Given the description of an element on the screen output the (x, y) to click on. 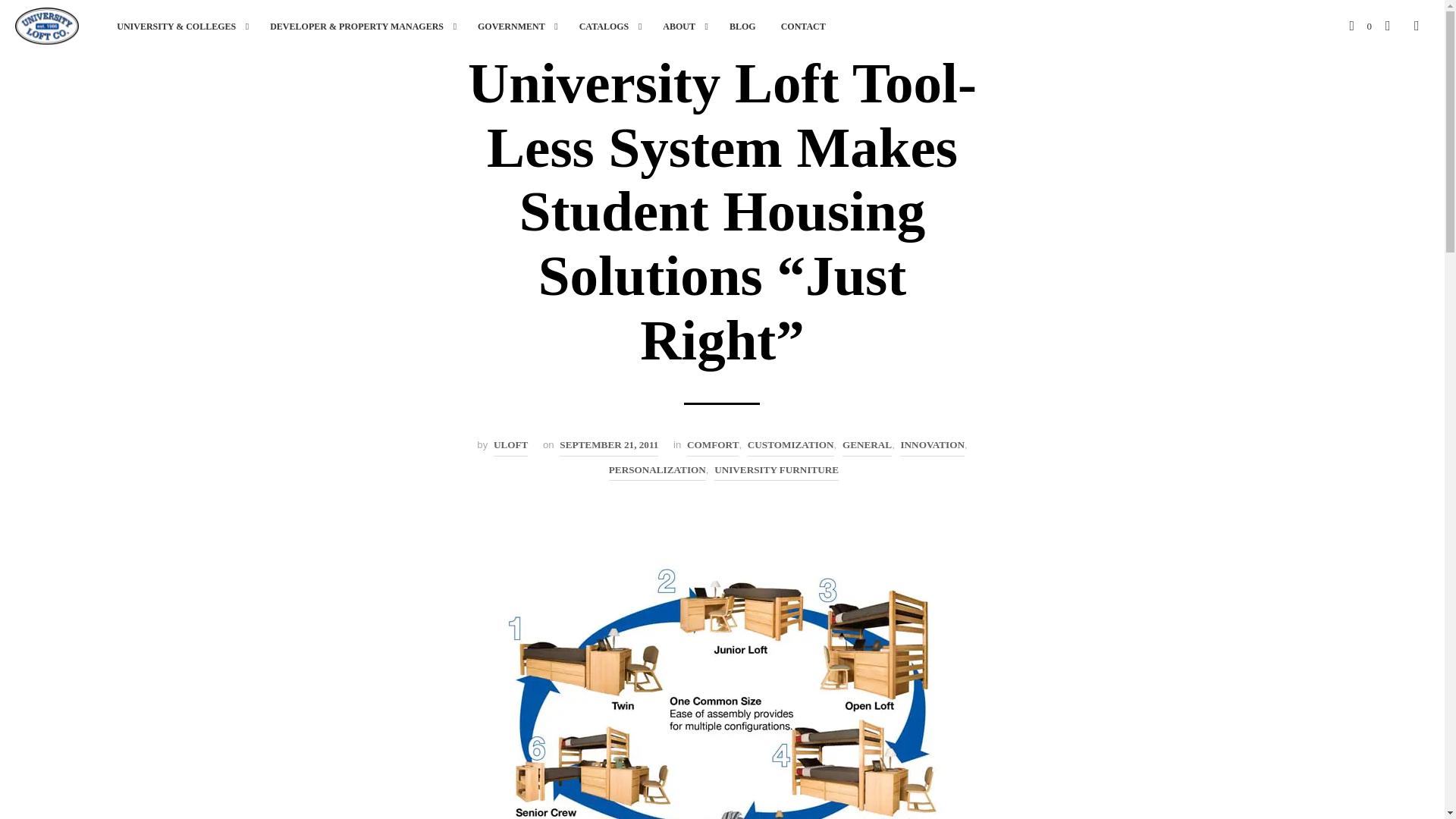
View all posts by ULoft (510, 446)
CONTACT (803, 26)
CUSTOMIZATION (791, 446)
COMFORT (712, 446)
CATALOGS (603, 26)
0 (1361, 26)
GOVERNMENT (510, 26)
ULOFT (510, 446)
graduateEvolution web (722, 683)
BLOG (742, 26)
ABOUT (678, 26)
SEPTEMBER 21, 2011 (608, 446)
